Given the description of an element on the screen output the (x, y) to click on. 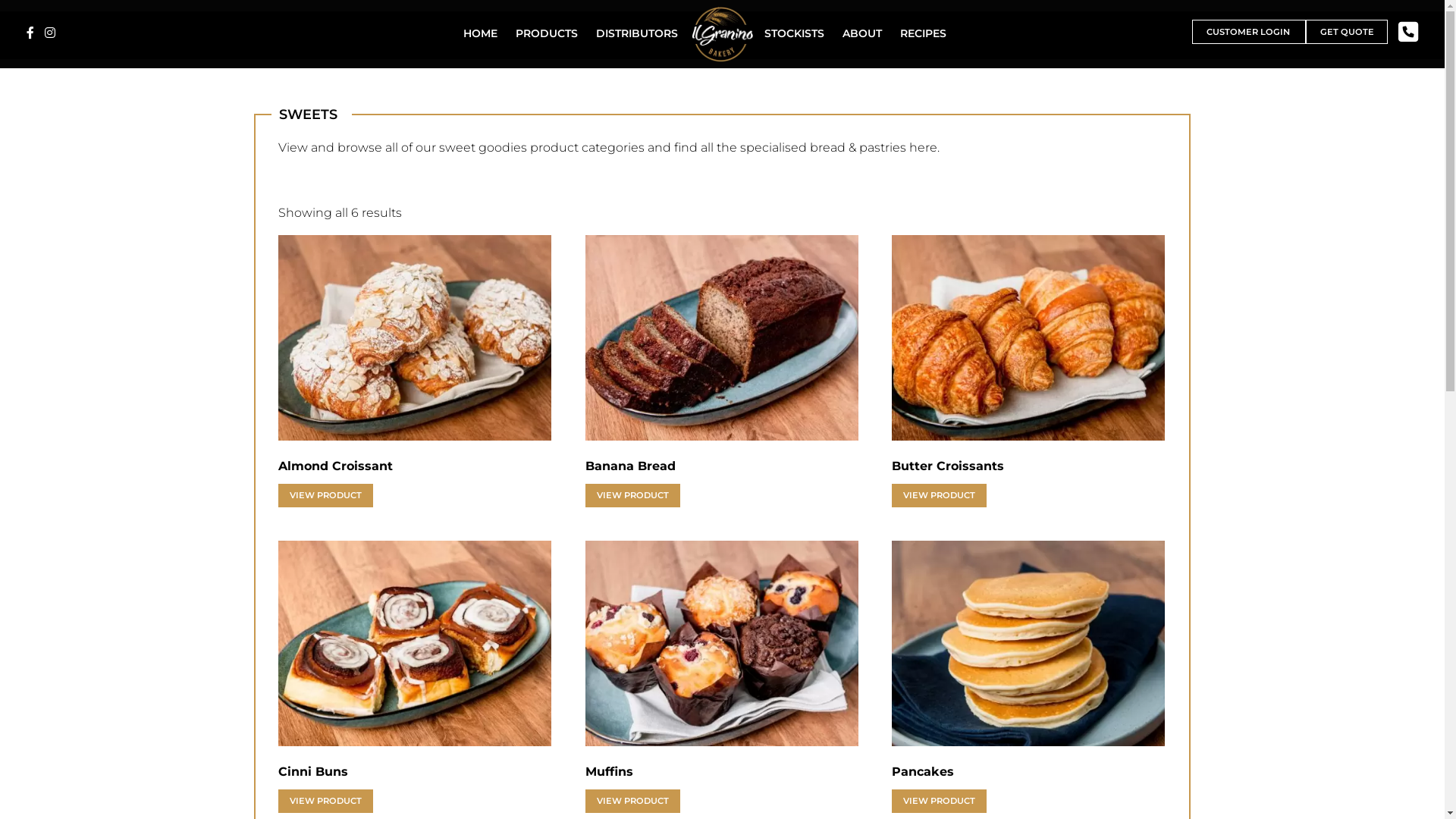
VIEW PRODUCT Element type: text (938, 495)
Banana Bread Element type: text (721, 337)
Skip to main content Element type: text (0, 0)
DISTRIBUTORS Element type: text (636, 32)
Cinni Buns Element type: text (414, 643)
GET QUOTE Element type: text (1346, 31)
HOME Element type: text (480, 32)
VIEW PRODUCT Element type: text (325, 800)
VIEW PRODUCT Element type: text (938, 800)
Pancakes Element type: text (1027, 643)
VIEW PRODUCT Element type: text (325, 495)
RECIPES Element type: text (923, 32)
ABOUT Element type: text (861, 32)
CUSTOMER LOGIN Element type: text (1248, 31)
VIEW PRODUCT Element type: text (632, 495)
VIEW PRODUCT Element type: text (632, 800)
Butter Croissants Element type: text (1027, 337)
Muffins Element type: text (721, 643)
Almond Croissant Element type: text (414, 337)
STOCKISTS Element type: text (794, 32)
PRODUCTS Element type: text (546, 32)
